Given the description of an element on the screen output the (x, y) to click on. 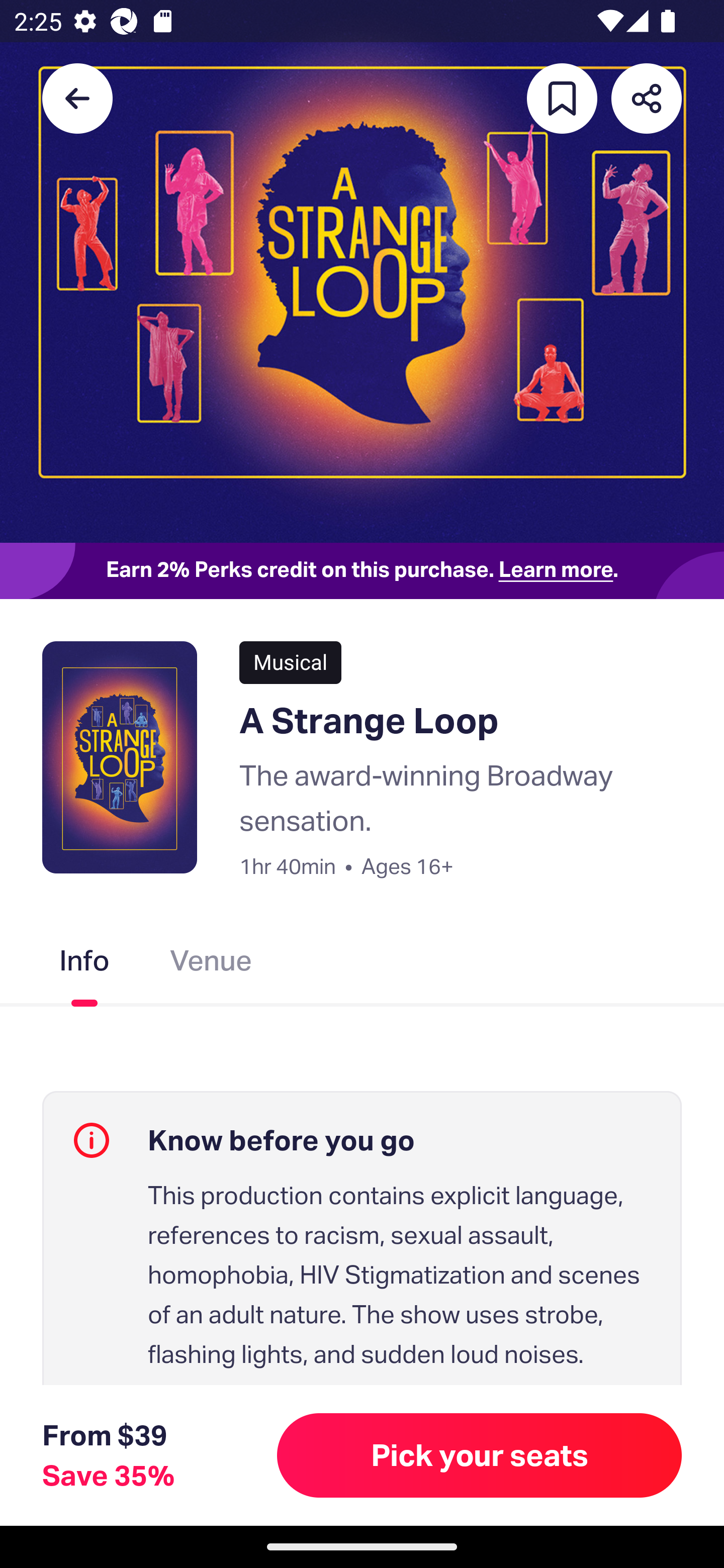
Earn 2% Perks credit on this purchase. Learn more. (362, 570)
Venue (210, 963)
Pick your seats (479, 1454)
